Given the description of an element on the screen output the (x, y) to click on. 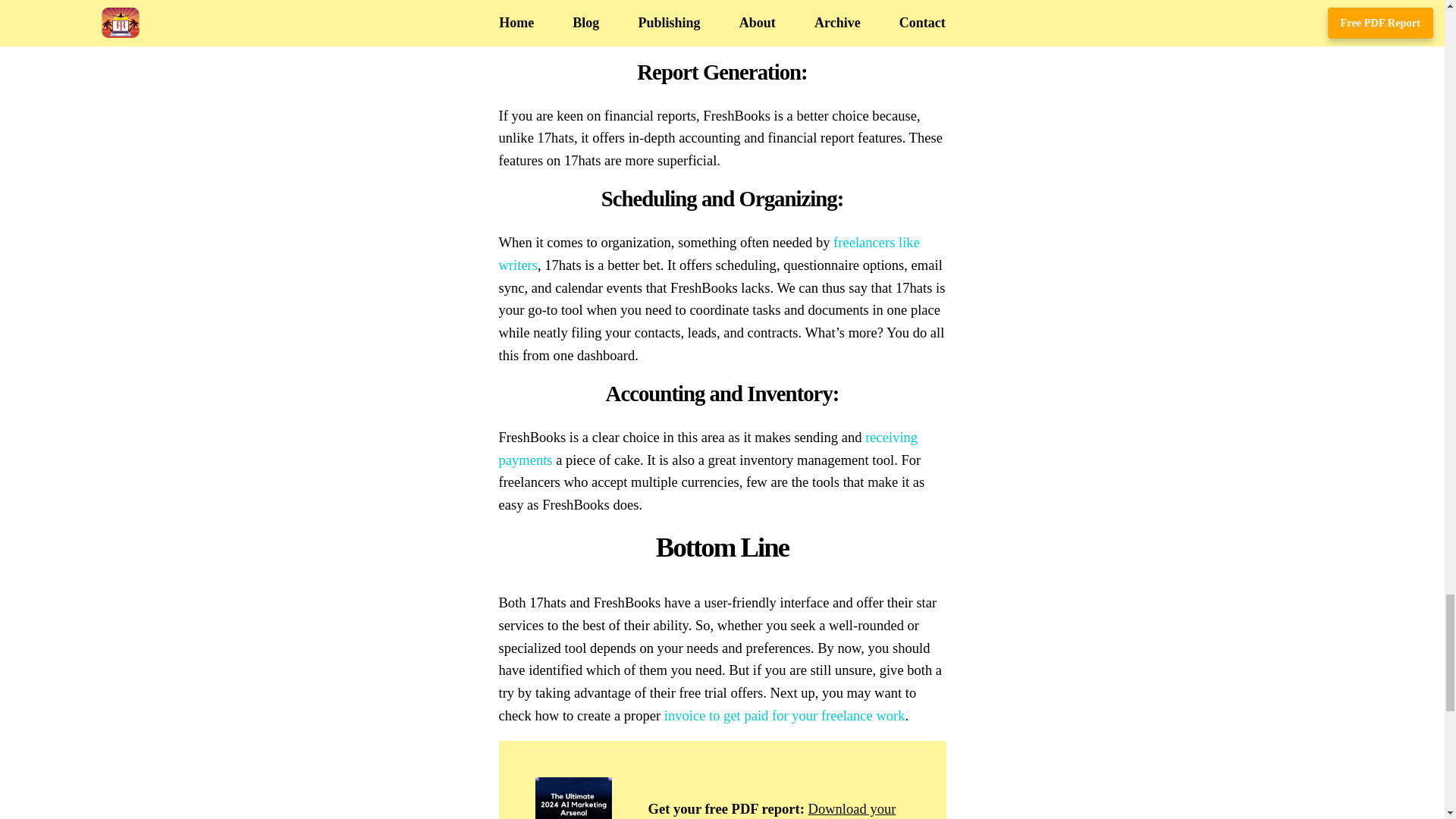
freelancers like writers (709, 253)
receiving payments (708, 448)
invoice to get paid for your freelance work (784, 715)
AI marketing tools (767, 809)
